Given the description of an element on the screen output the (x, y) to click on. 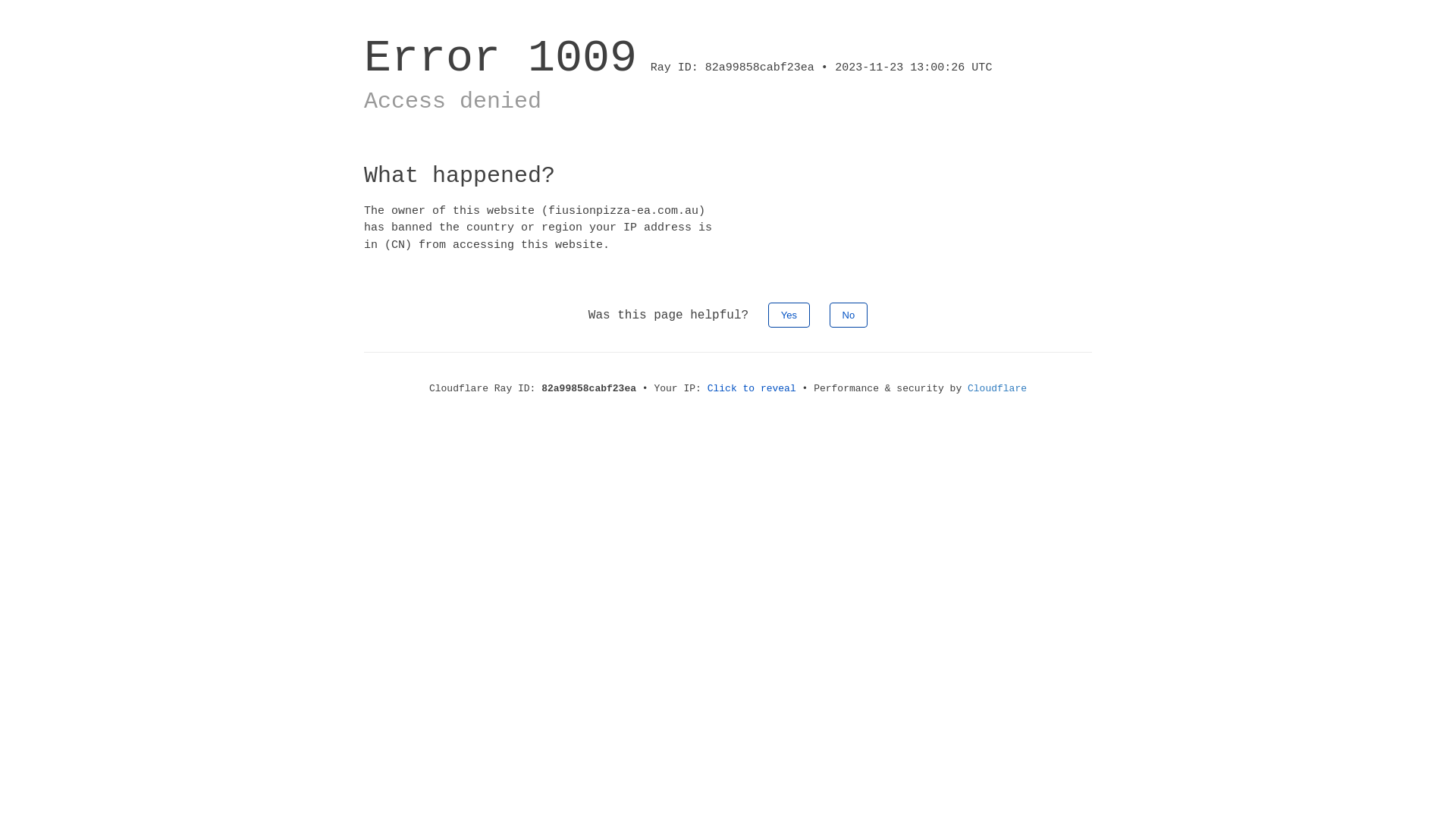
Cloudflare Element type: text (996, 388)
Yes Element type: text (788, 314)
No Element type: text (848, 314)
Click to reveal Element type: text (751, 388)
